Given the description of an element on the screen output the (x, y) to click on. 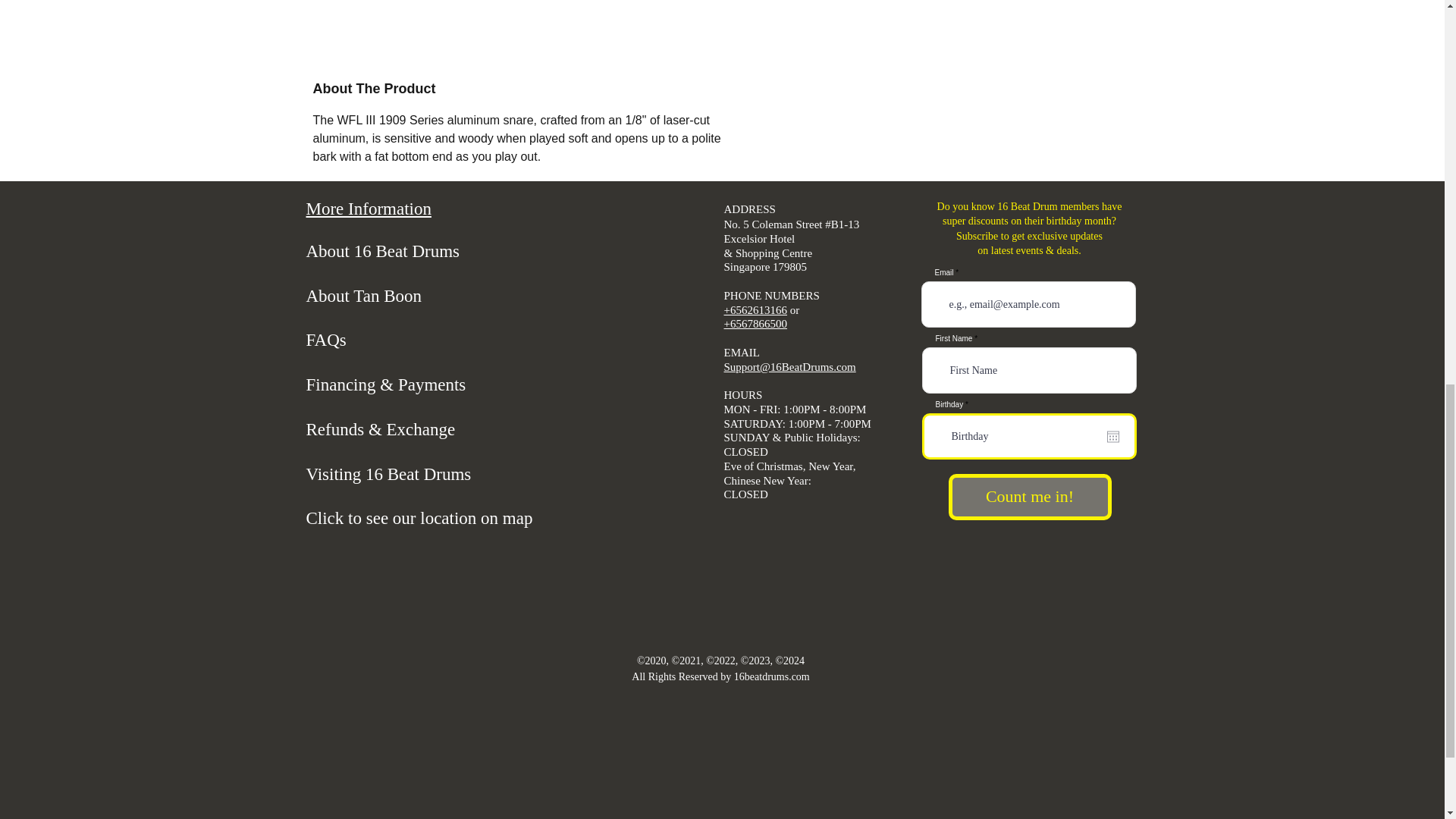
FAQs (325, 339)
Visiting 16 Beat Drums (388, 474)
About 16 Beat Drums (382, 250)
About Tan Boon (363, 295)
Count me in! (1028, 497)
Click to see our location on map (418, 517)
